Given the description of an element on the screen output the (x, y) to click on. 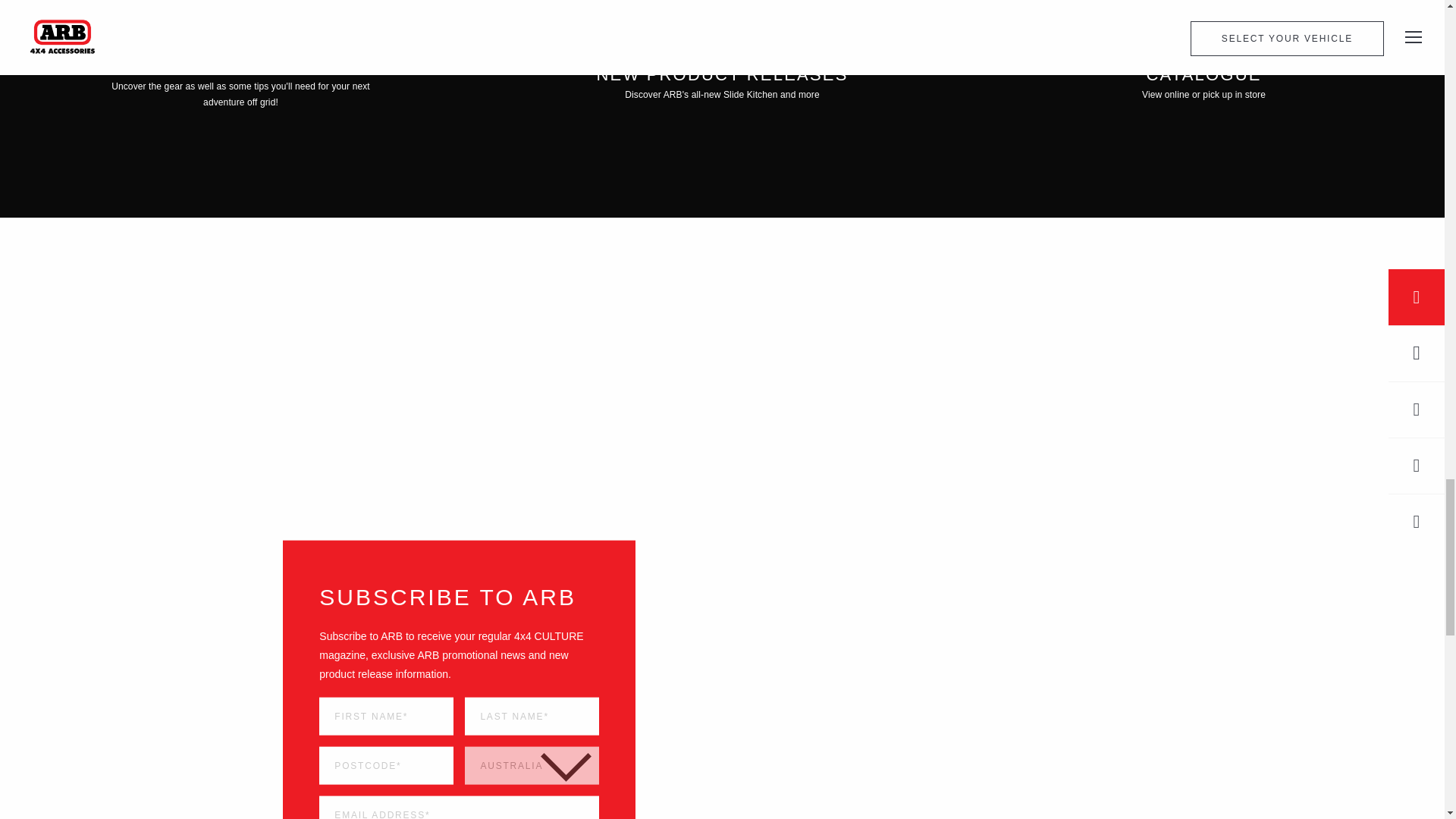
4x4 Culture  (240, 108)
New Product Releases (721, 108)
